Given the description of an element on the screen output the (x, y) to click on. 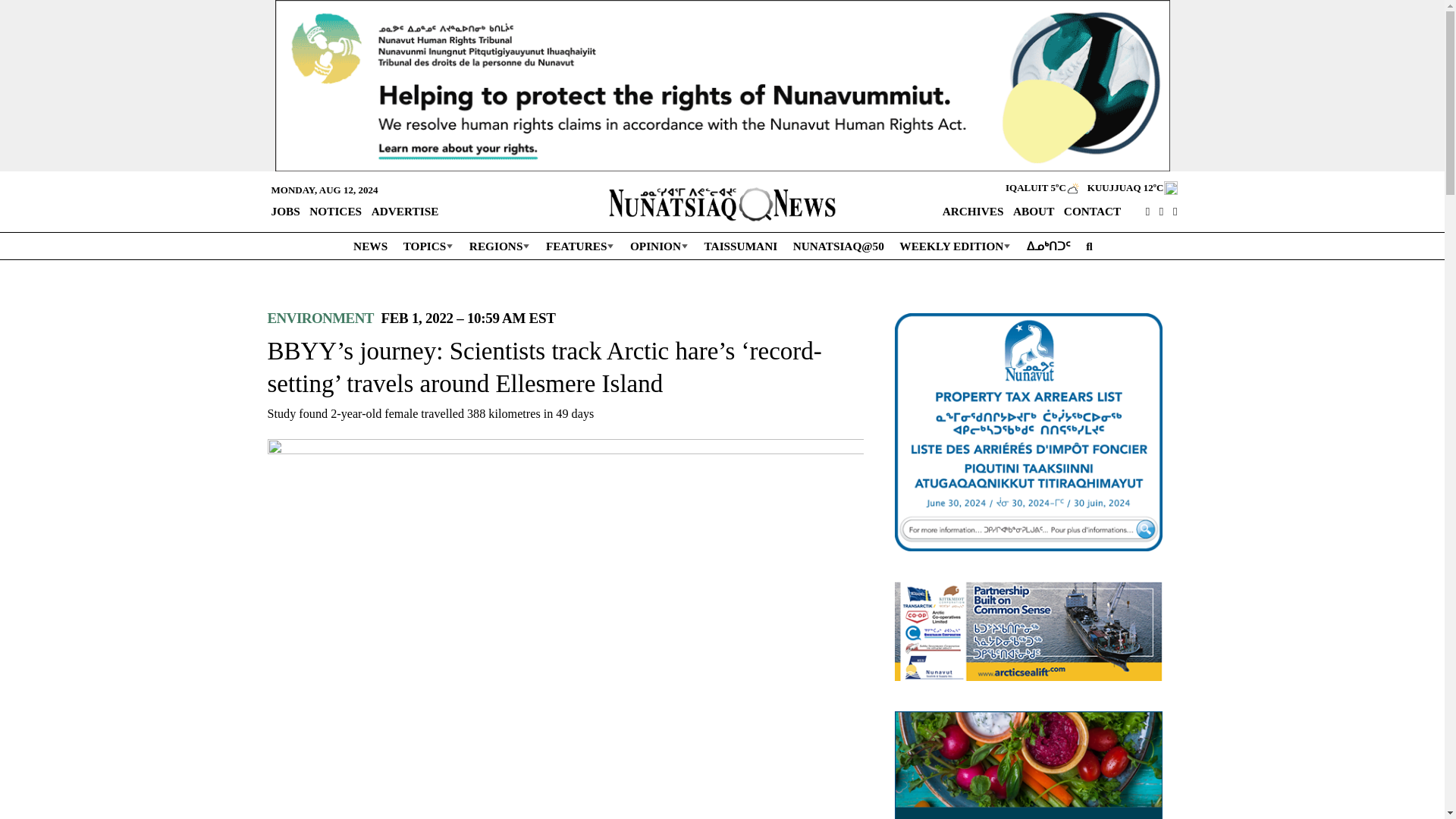
NOTICES (335, 210)
ARCHIVES (973, 210)
ABOUT (1033, 210)
NEWS (369, 245)
TOPICS (428, 245)
FEATURES (579, 245)
JOBS (284, 210)
OPINION (658, 245)
ADVERTISE (405, 210)
TAISSUMANI (740, 245)
